Given the description of an element on the screen output the (x, y) to click on. 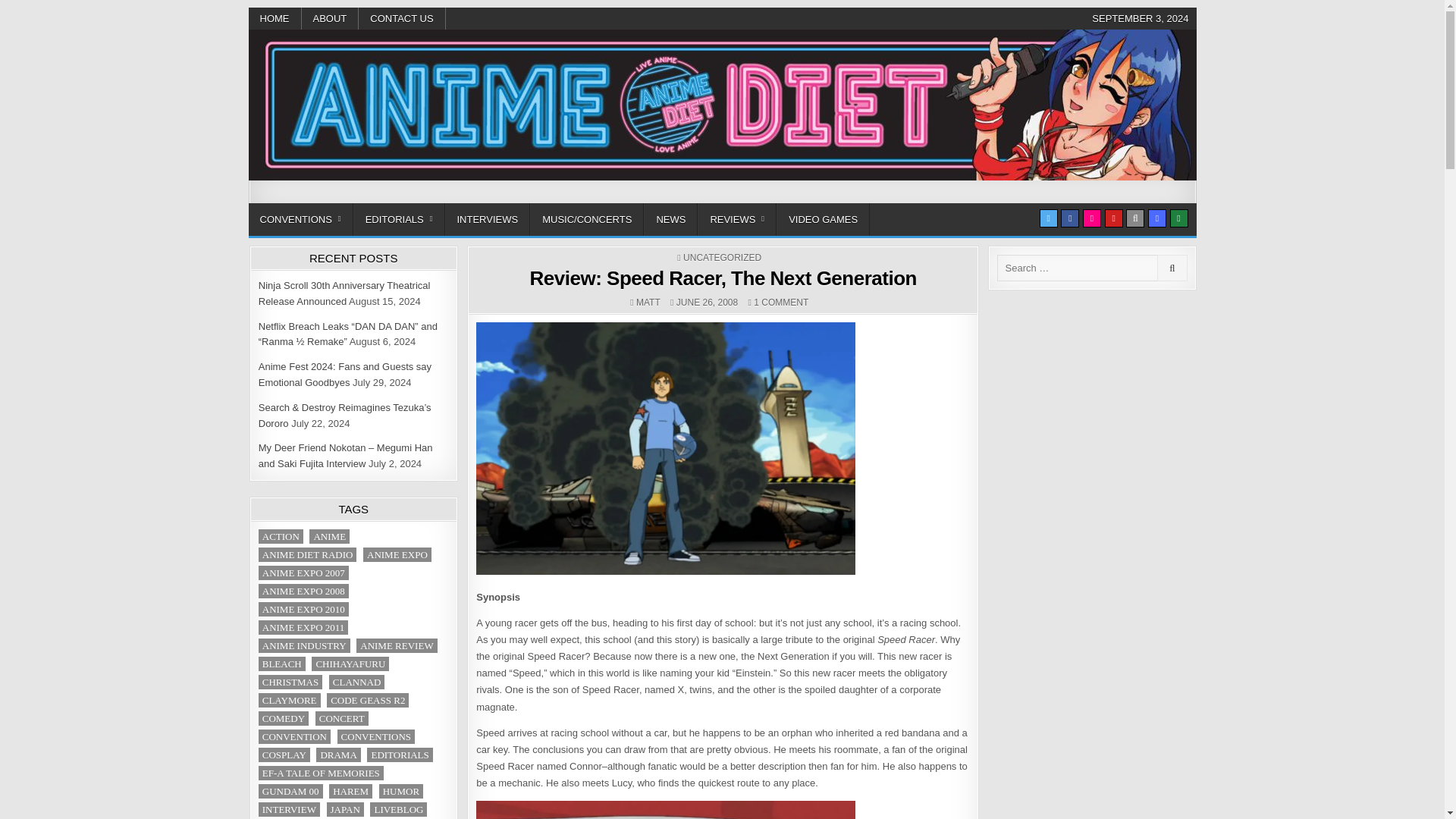
Random Article (1157, 218)
ABOUT (330, 18)
NEWS (670, 219)
VIDEO GAMES (822, 219)
Facebook (1069, 218)
CONTACT US (401, 18)
Flickr (1091, 218)
Twitter (1048, 218)
REVIEWS (736, 219)
smokin (666, 448)
